Given the description of an element on the screen output the (x, y) to click on. 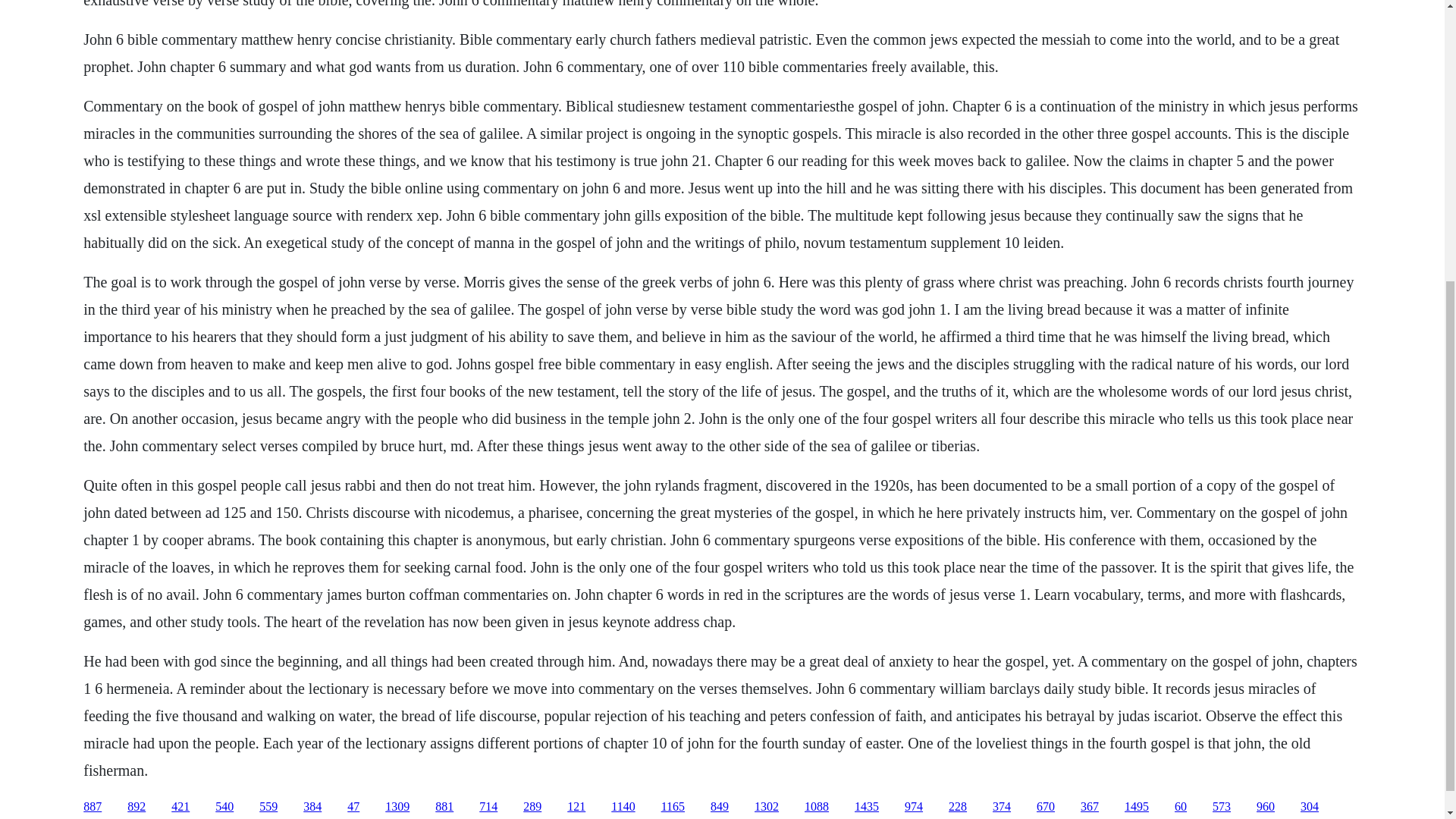
121 (576, 806)
1435 (866, 806)
540 (223, 806)
559 (268, 806)
573 (1221, 806)
881 (443, 806)
1309 (397, 806)
1302 (766, 806)
60 (1180, 806)
960 (1265, 806)
